Given the description of an element on the screen output the (x, y) to click on. 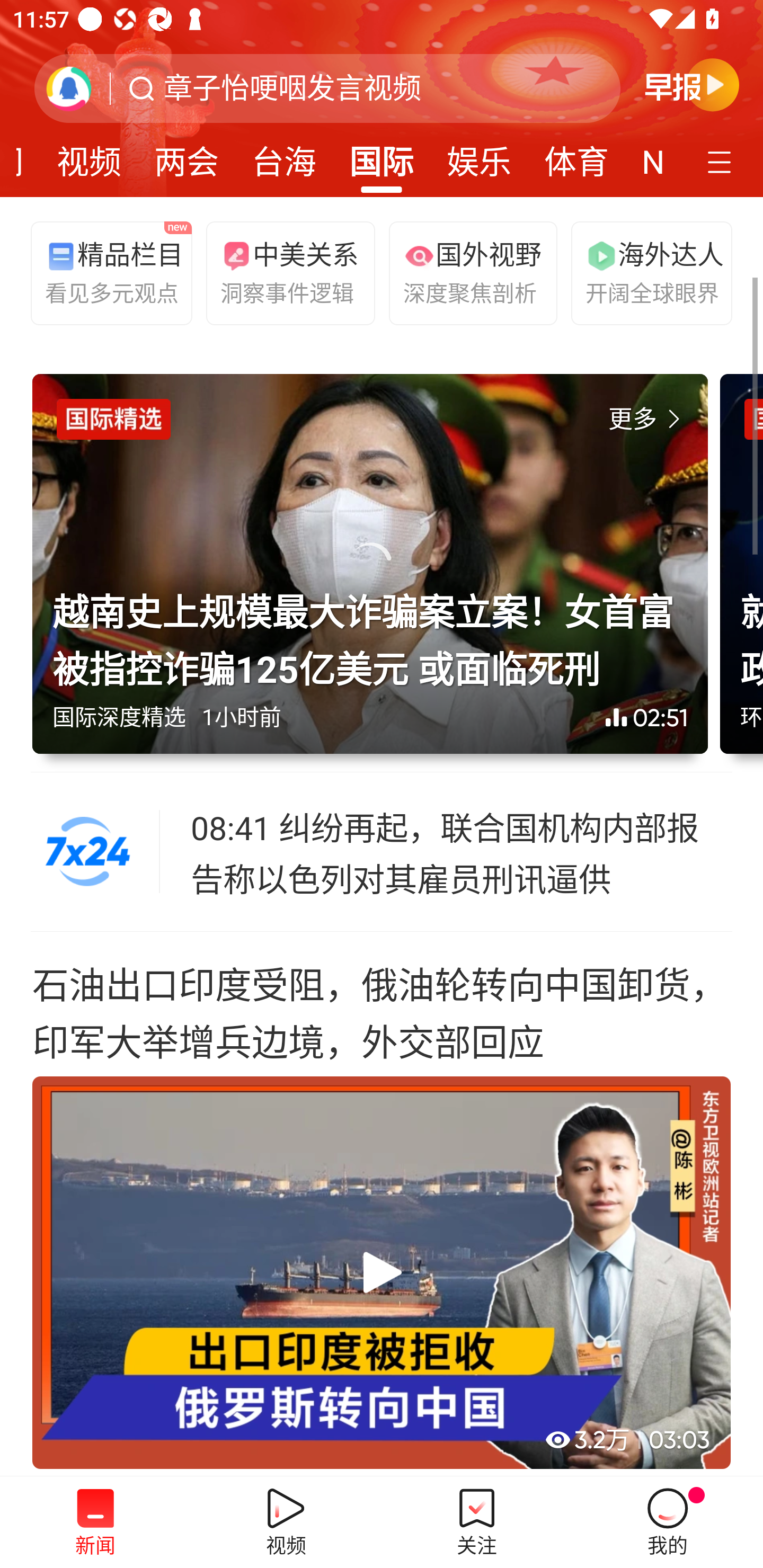
早晚报 (691, 84)
刷新 (68, 88)
章子怡哽咽发言视频 (292, 88)
视频 (89, 155)
两会 (186, 155)
台海 (283, 155)
国际 (381, 155)
娱乐 (478, 155)
体育 (575, 155)
 定制频道 (721, 160)
精品栏目 看见多元观点 (106, 272)
中美关系 洞察事件逻辑 (282, 272)
国外视野 深度聚焦剖析 (465, 272)
海外达人 开阔全球眼界 (647, 272)
更多  (648, 419)
08:41 纠纷再起，联合国机构内部报告称以色列对其雇员刑讯逼供 (461, 852)
石油出口印度受阻，俄油轮转向中国卸货，印军大举增兵边境，外交部回应  3.2万 03:03 (381, 1204)
